Given the description of an element on the screen output the (x, y) to click on. 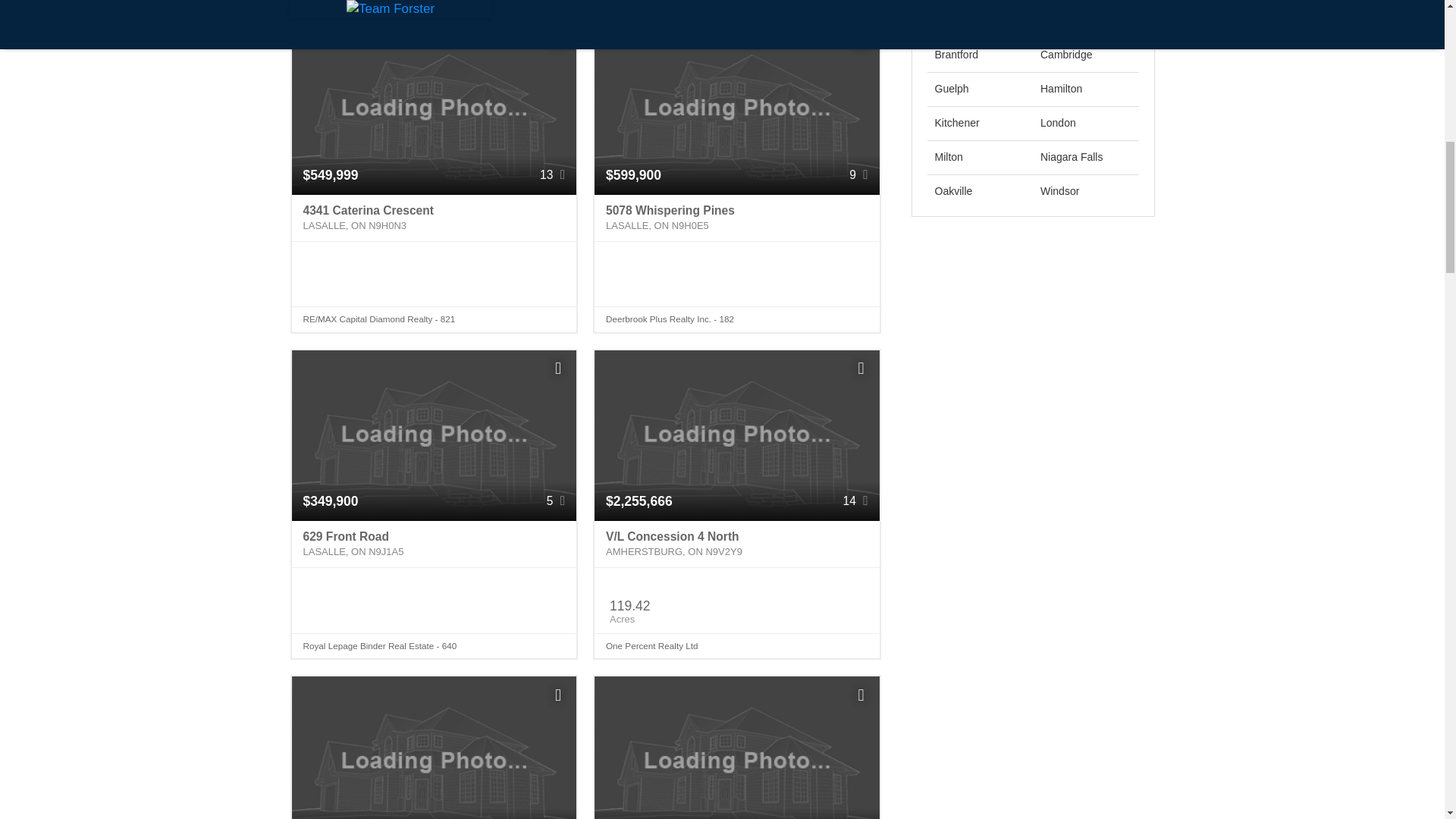
629 Front Road Lasalle,  ON N9J1A5 (433, 544)
5078 Whispering Pines Lasalle,  ON N9H0E5 (736, 217)
4341 Caterina Crescent Lasalle,  ON N9H0N3 (433, 217)
